Given the description of an element on the screen output the (x, y) to click on. 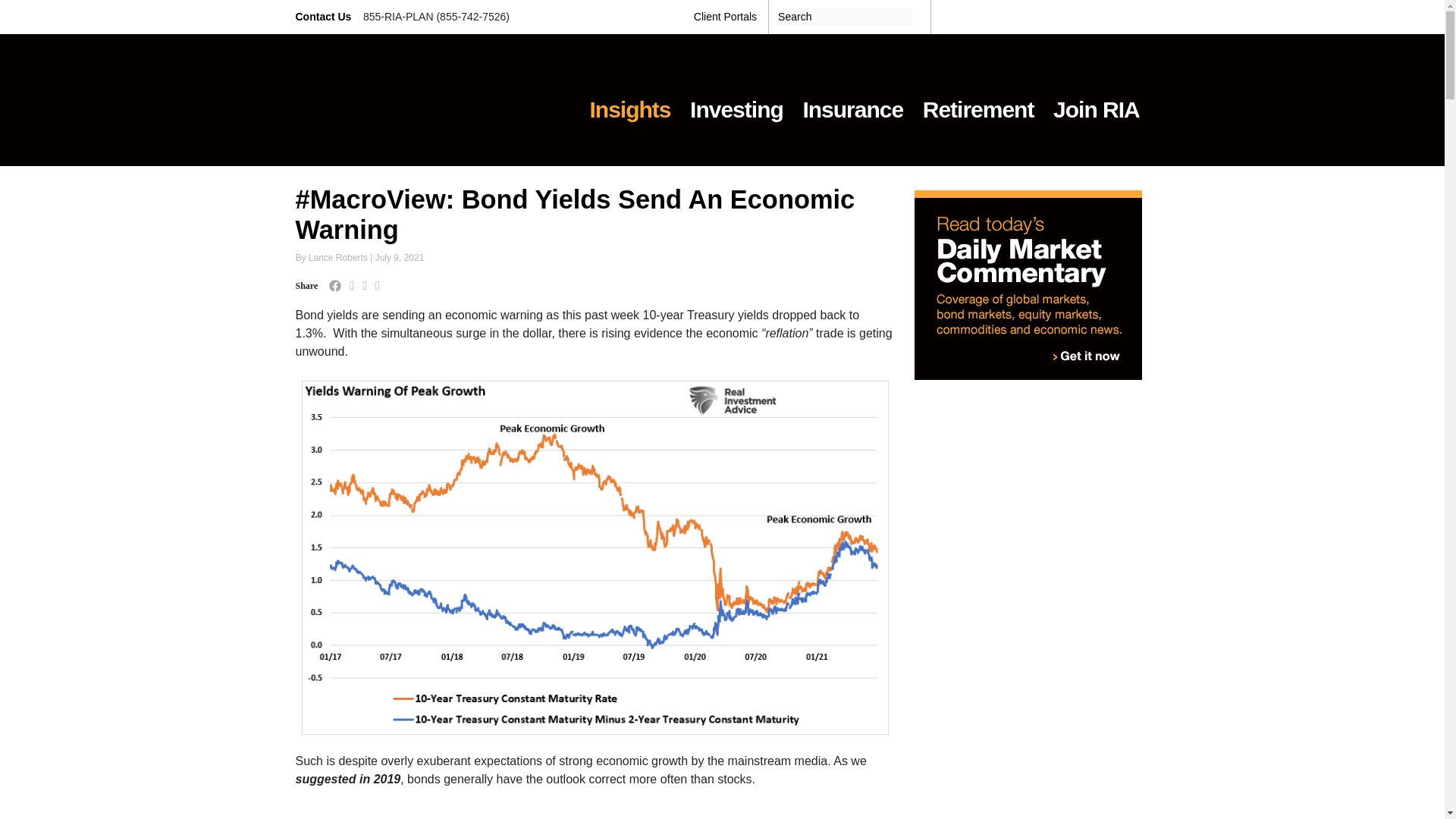
Insights (630, 99)
Contact Us (325, 16)
Investing (735, 99)
Insurance (852, 99)
Retirement (977, 99)
Client Portals (725, 16)
Join RIA (1095, 99)
